Given the description of an element on the screen output the (x, y) to click on. 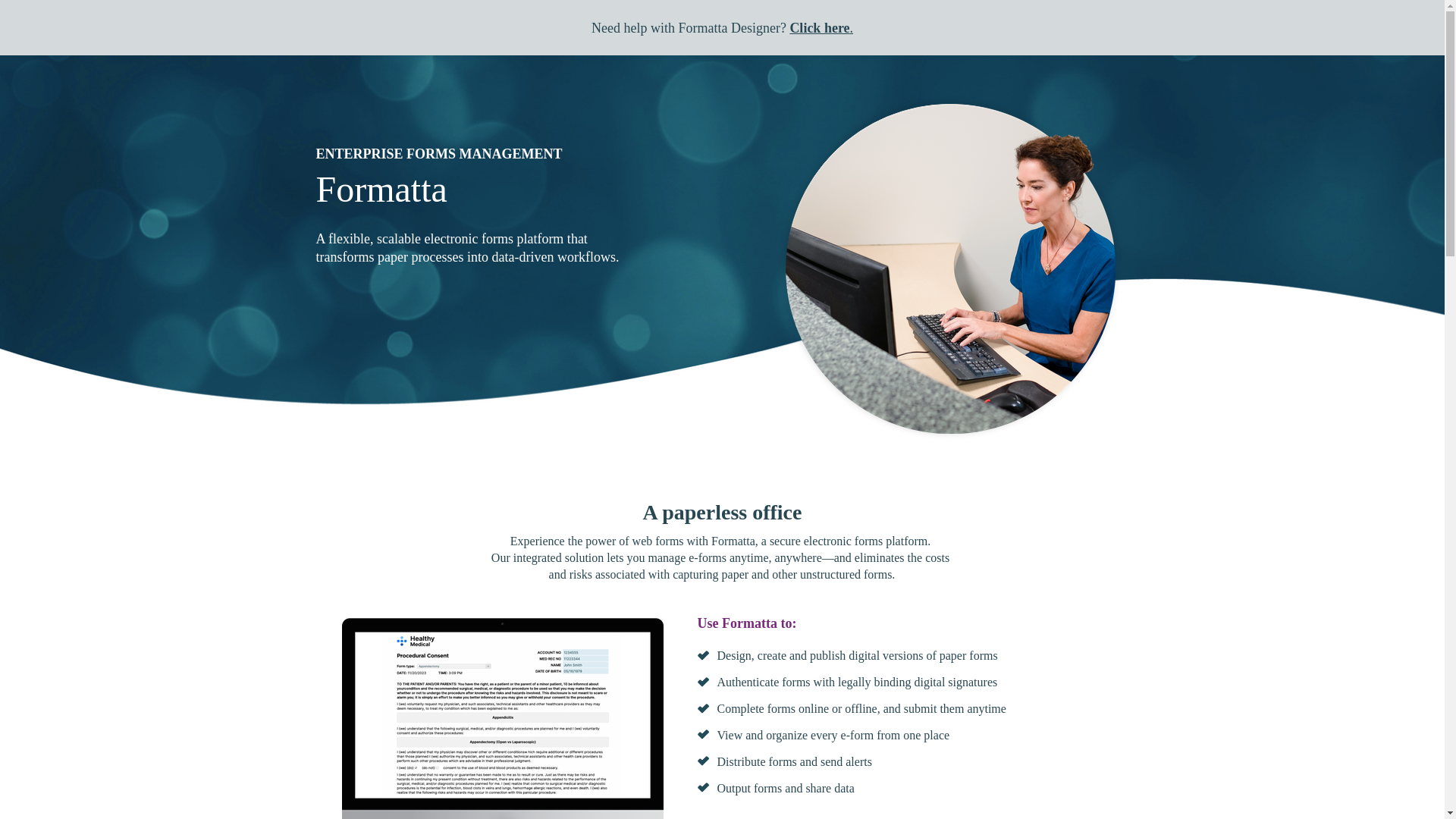
Click here. (821, 28)
